Given the description of an element on the screen output the (x, y) to click on. 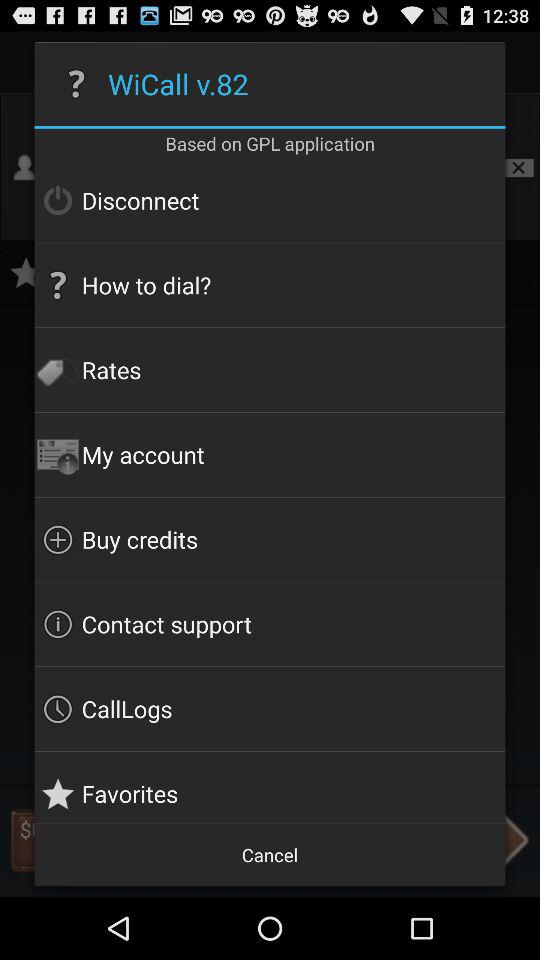
choose the icon below the contact support item (269, 709)
